Given the description of an element on the screen output the (x, y) to click on. 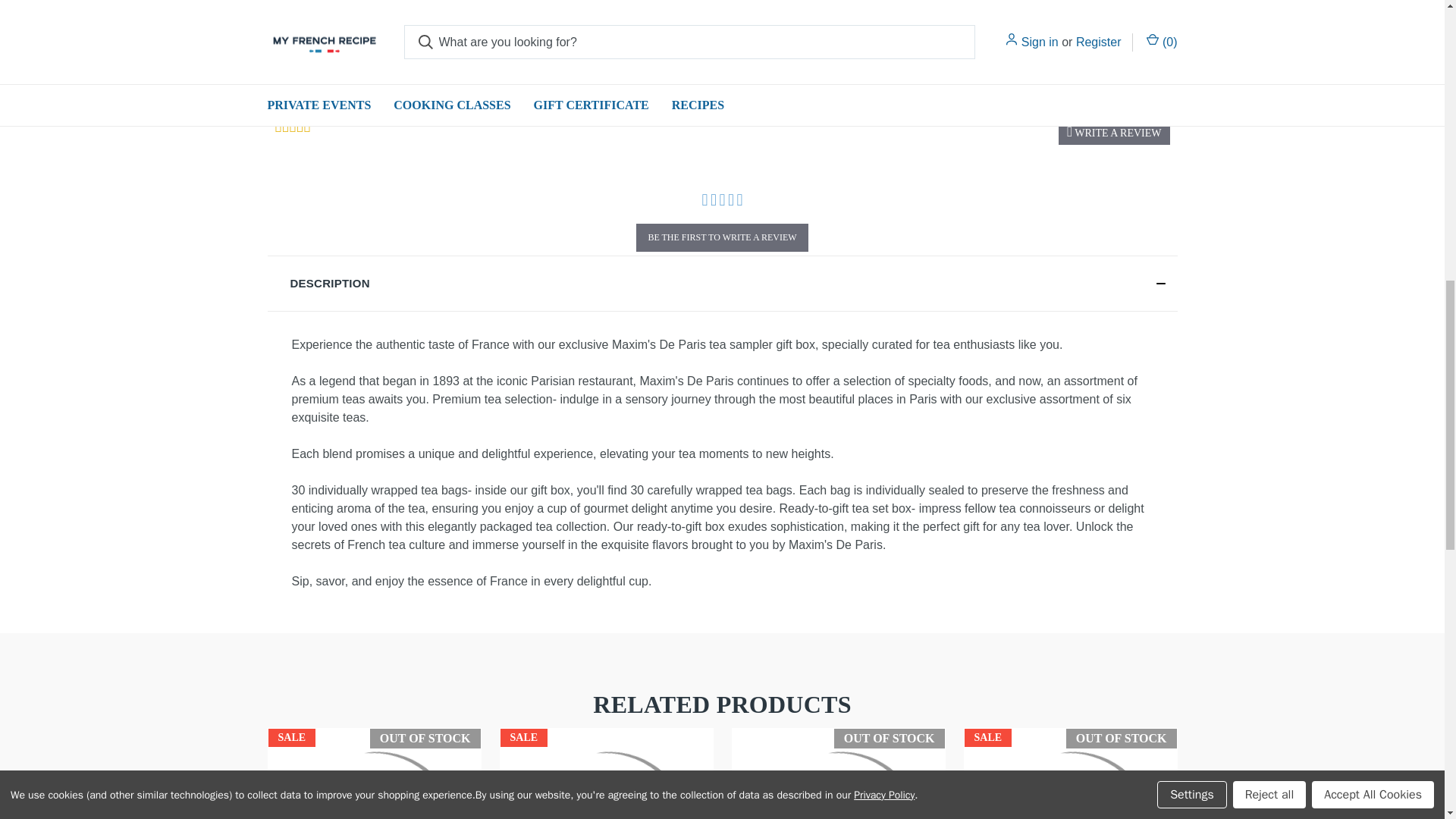
French tradition gourmet box - Maxim's de Paris (837, 775)
Belle epoque tea (373, 775)
